Given the description of an element on the screen output the (x, y) to click on. 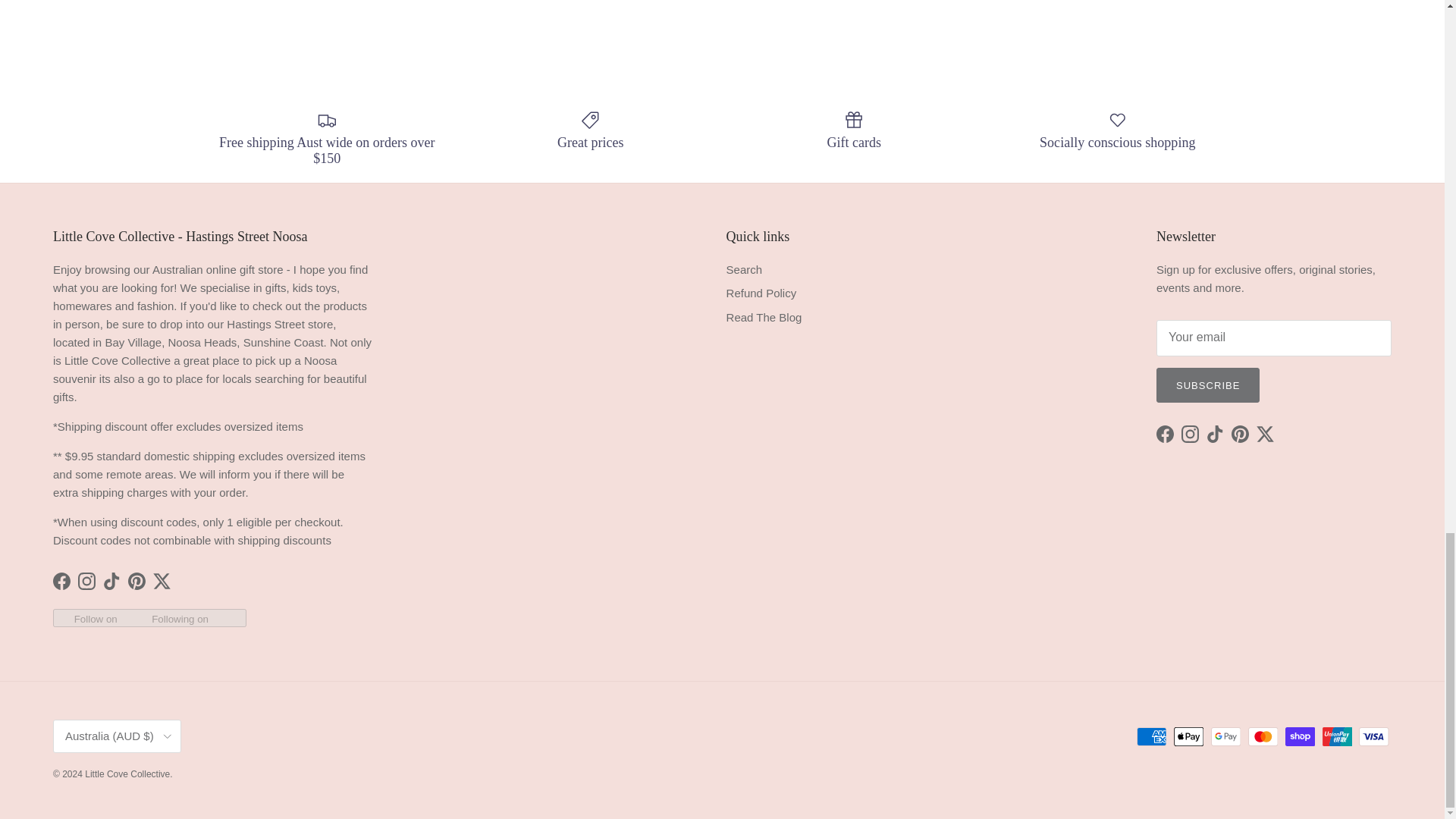
Little Cove Collective on TikTok (111, 580)
Little Cove Collective on Facebook (60, 580)
Little Cove Collective on Instagram (87, 580)
Little Cove Collective on Facebook (1164, 434)
Little Cove Collective on Twitter (161, 580)
Little Cove Collective on Pinterest (136, 580)
